Given the description of an element on the screen output the (x, y) to click on. 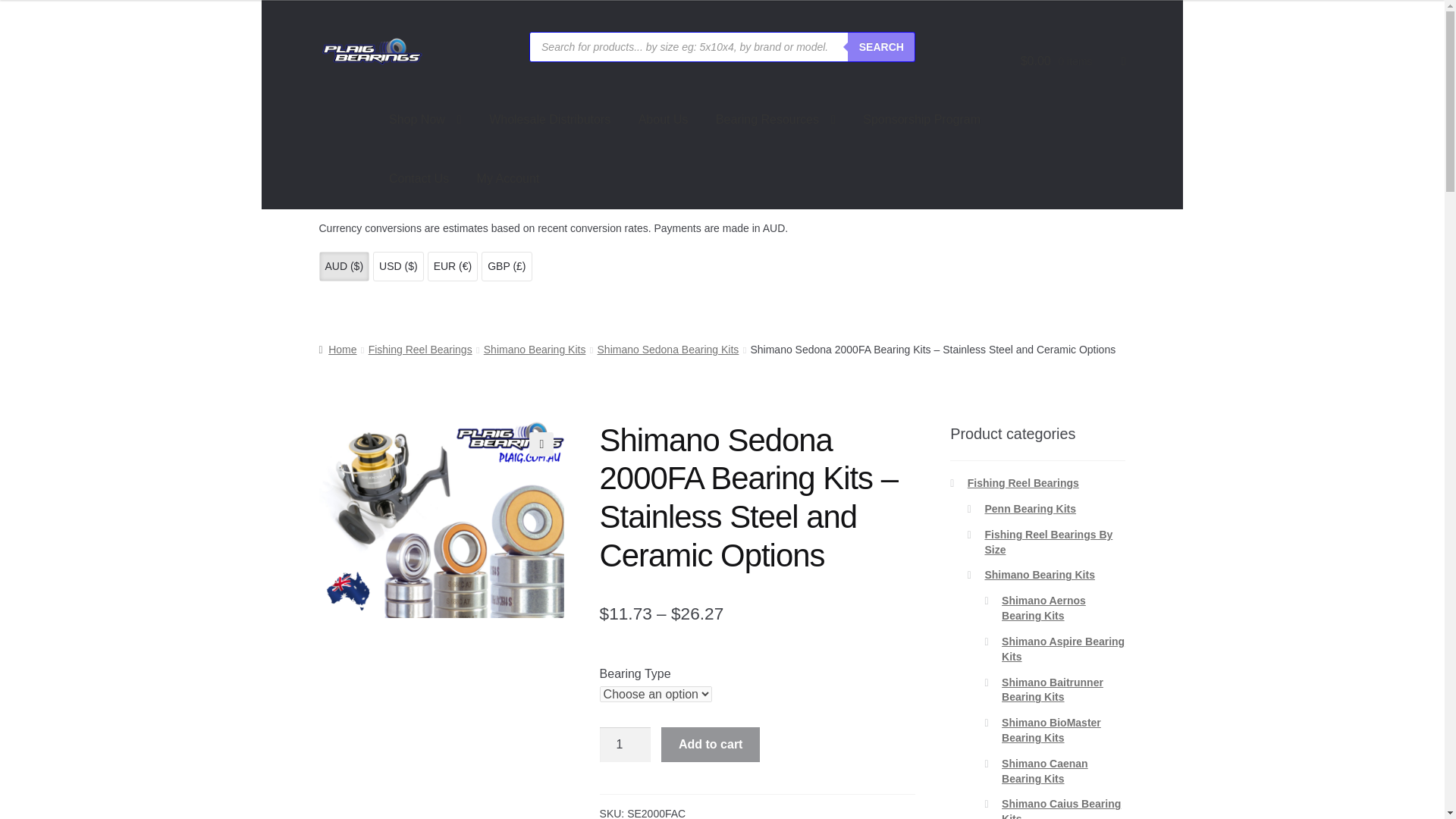
Original price:26.27 (697, 613)
images (441, 520)
SEARCH (881, 46)
Original price:11.73 (625, 613)
Shop Now (425, 119)
1 (624, 744)
Original price:0 (1035, 60)
View your shopping cart (1072, 60)
